Given the description of an element on the screen output the (x, y) to click on. 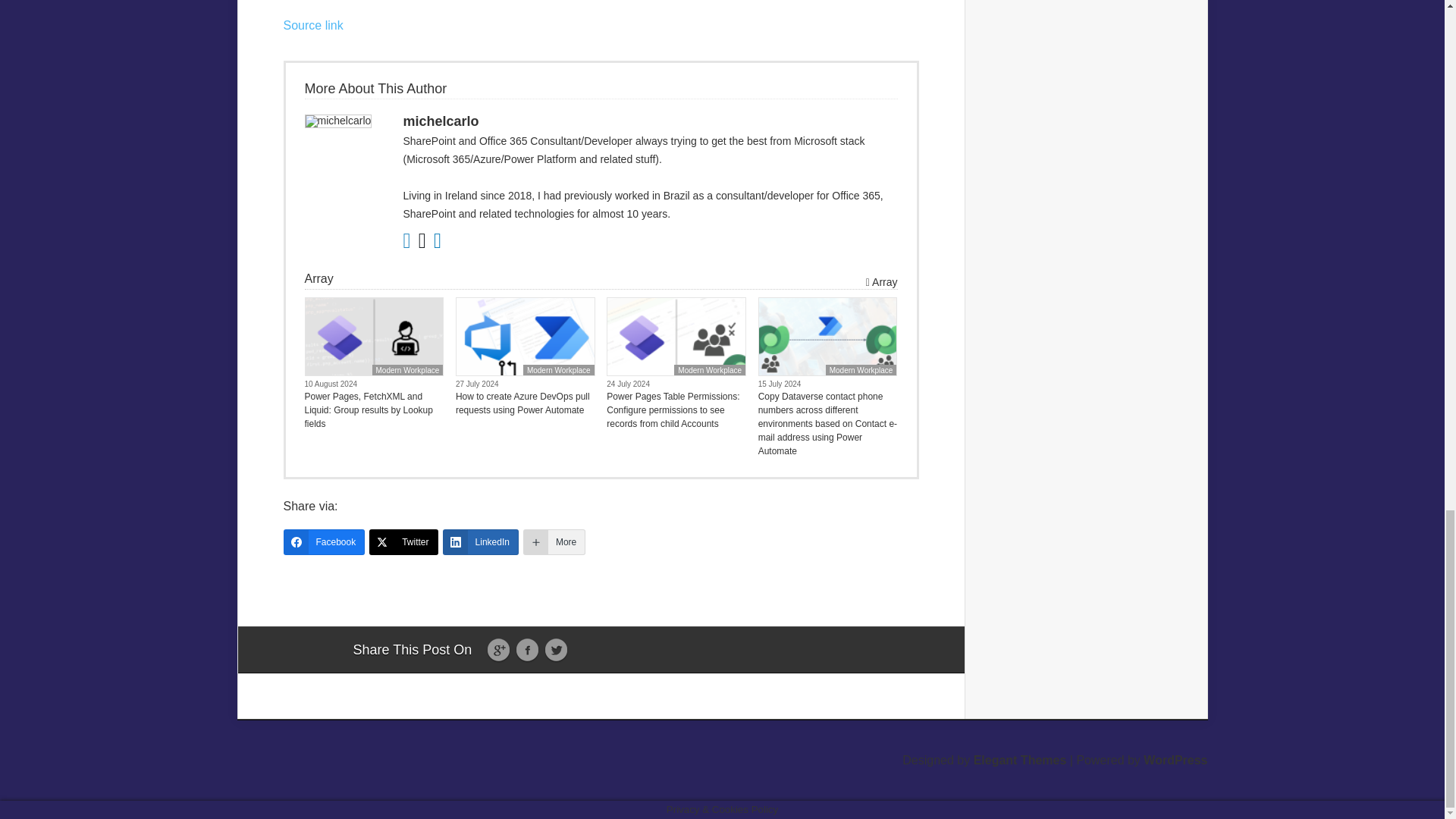
Source link (313, 24)
Premium WordPress Themes (1020, 759)
Array (882, 282)
